Given the description of an element on the screen output the (x, y) to click on. 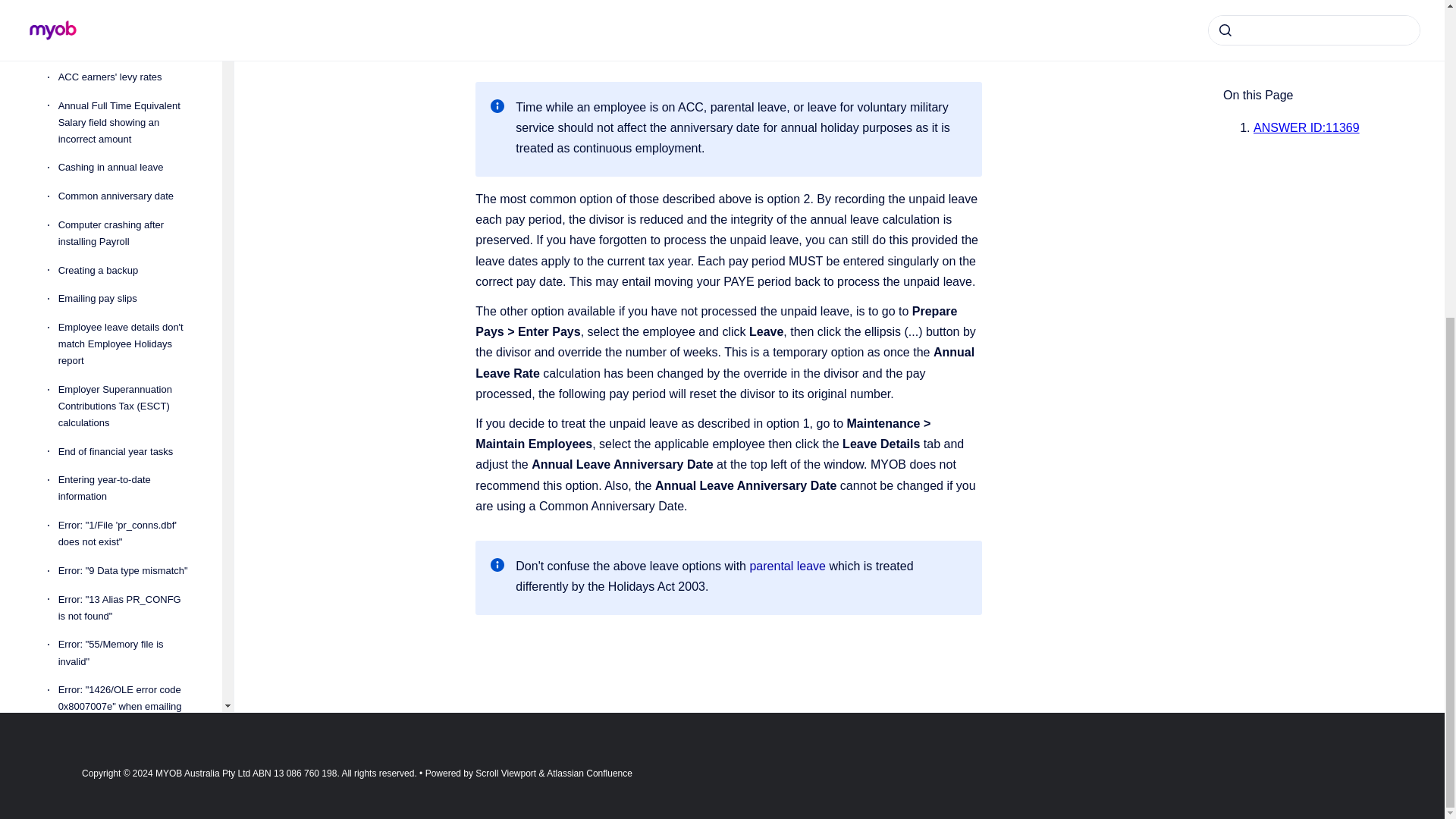
Error: "Pay Slip not found" when emailing pay slips (128, 616)
Error: "9 Data type mismatch" (128, 166)
Error: "File Access Denied" when installing Payroll (128, 509)
Entering year-to-date information (128, 85)
Fixing holiday pay paid in error (128, 781)
Error: "AMYUNI driver failed" (128, 393)
End of financial year tasks (128, 47)
Filing to the IRD (128, 744)
